Given the description of an element on the screen output the (x, y) to click on. 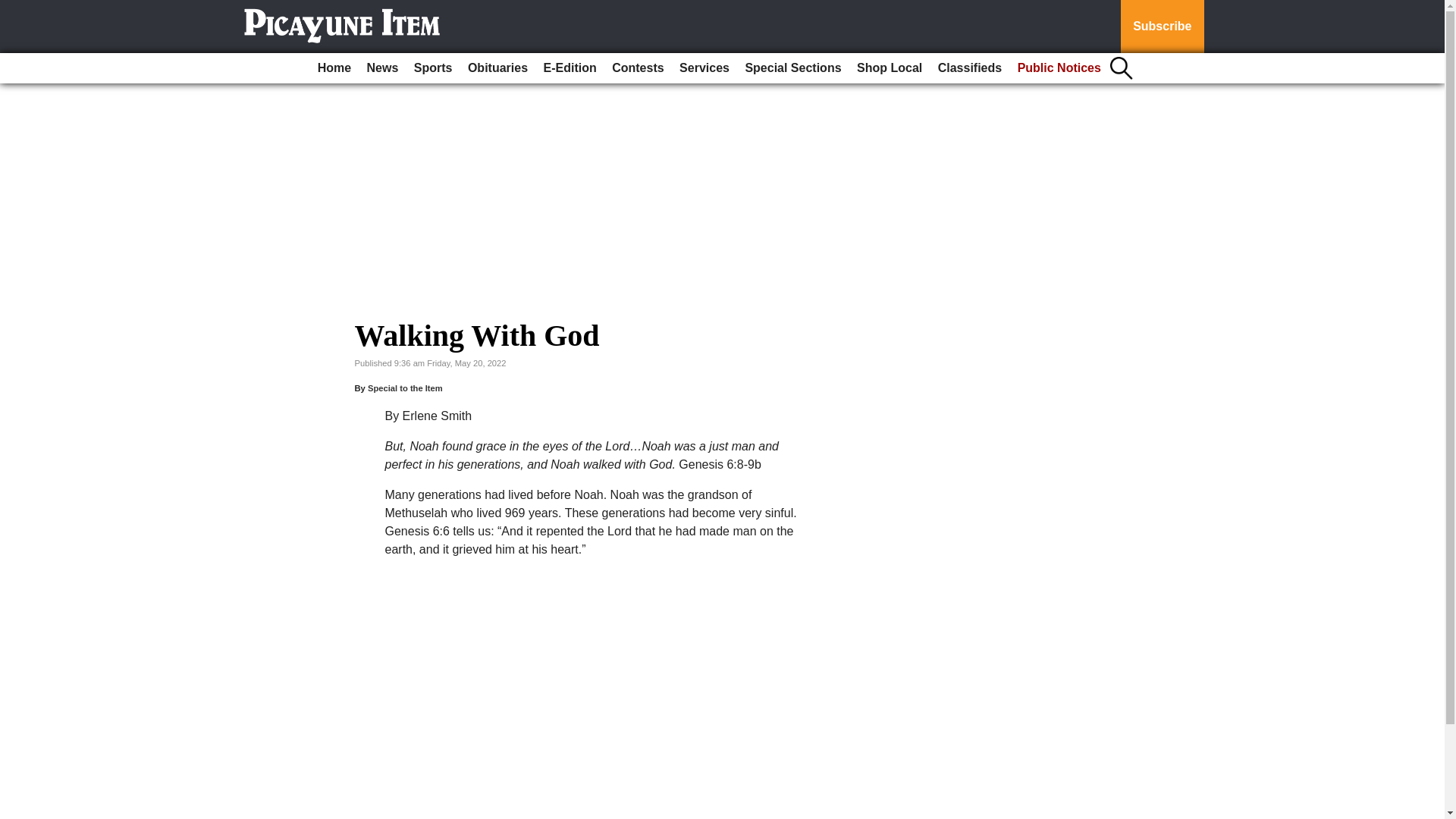
News (382, 68)
Public Notices (1058, 68)
Services (703, 68)
Subscribe (1162, 26)
Sports (432, 68)
Special to the Item (405, 388)
Contests (637, 68)
Special Sections (792, 68)
E-Edition (569, 68)
Home (333, 68)
